Given the description of an element on the screen output the (x, y) to click on. 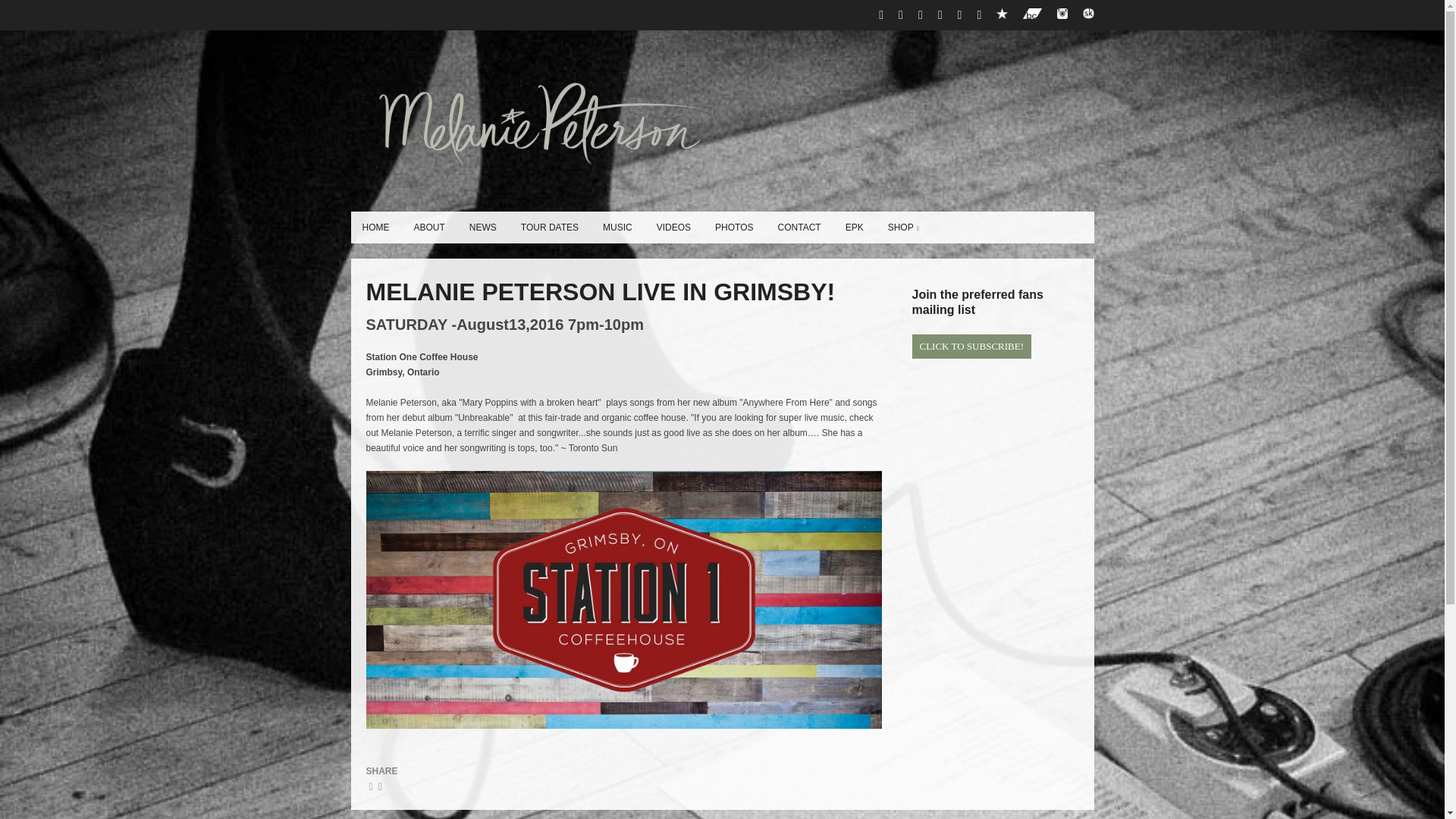
EPK (854, 227)
TOUR DATES (549, 227)
HOME (375, 227)
NEWS (483, 227)
ABOUT (428, 227)
SHOP (903, 227)
CONTACT (799, 227)
PHOTOS (733, 227)
MUSIC (617, 227)
VIDEOS (673, 227)
